Given the description of an element on the screen output the (x, y) to click on. 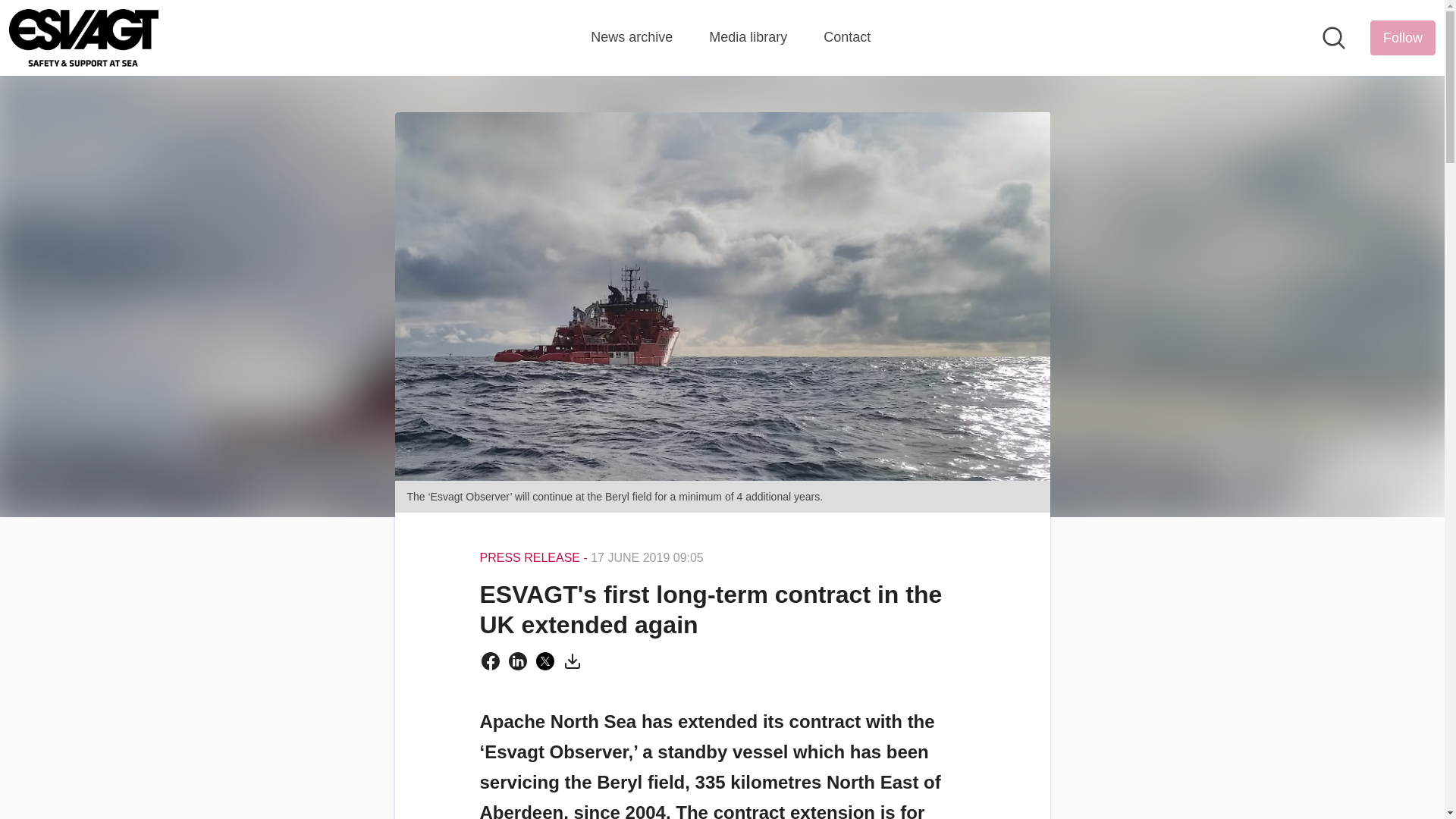
Share on Twitter (544, 660)
Media library (748, 37)
Share on Facebook (489, 660)
News archive (631, 37)
Search in newsroom (1333, 37)
Download as PDF (571, 660)
Contact (847, 37)
Share on Linkedin (516, 660)
Follow (1402, 37)
